Given the description of an element on the screen output the (x, y) to click on. 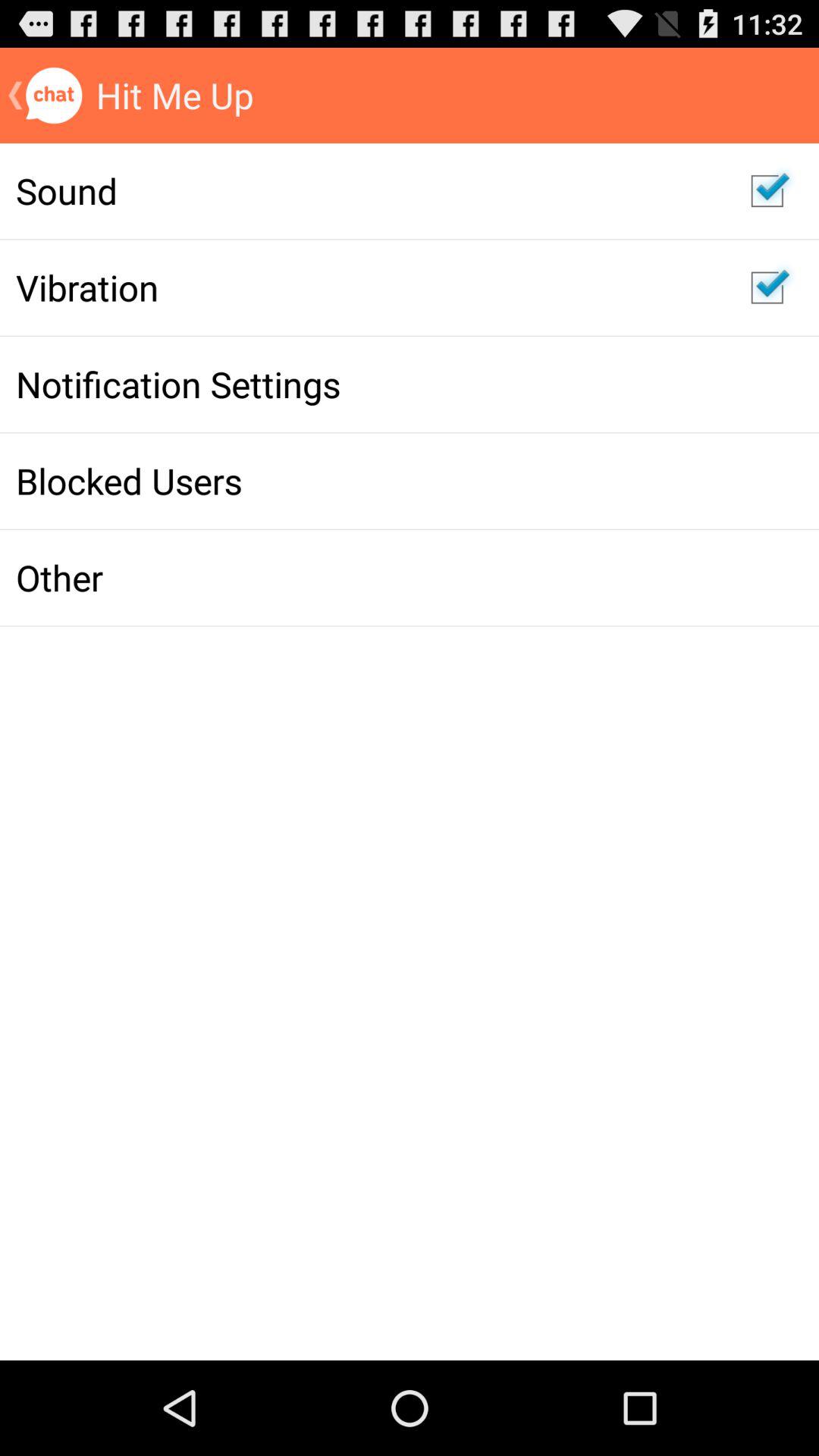
click vibration icon (367, 287)
